Given the description of an element on the screen output the (x, y) to click on. 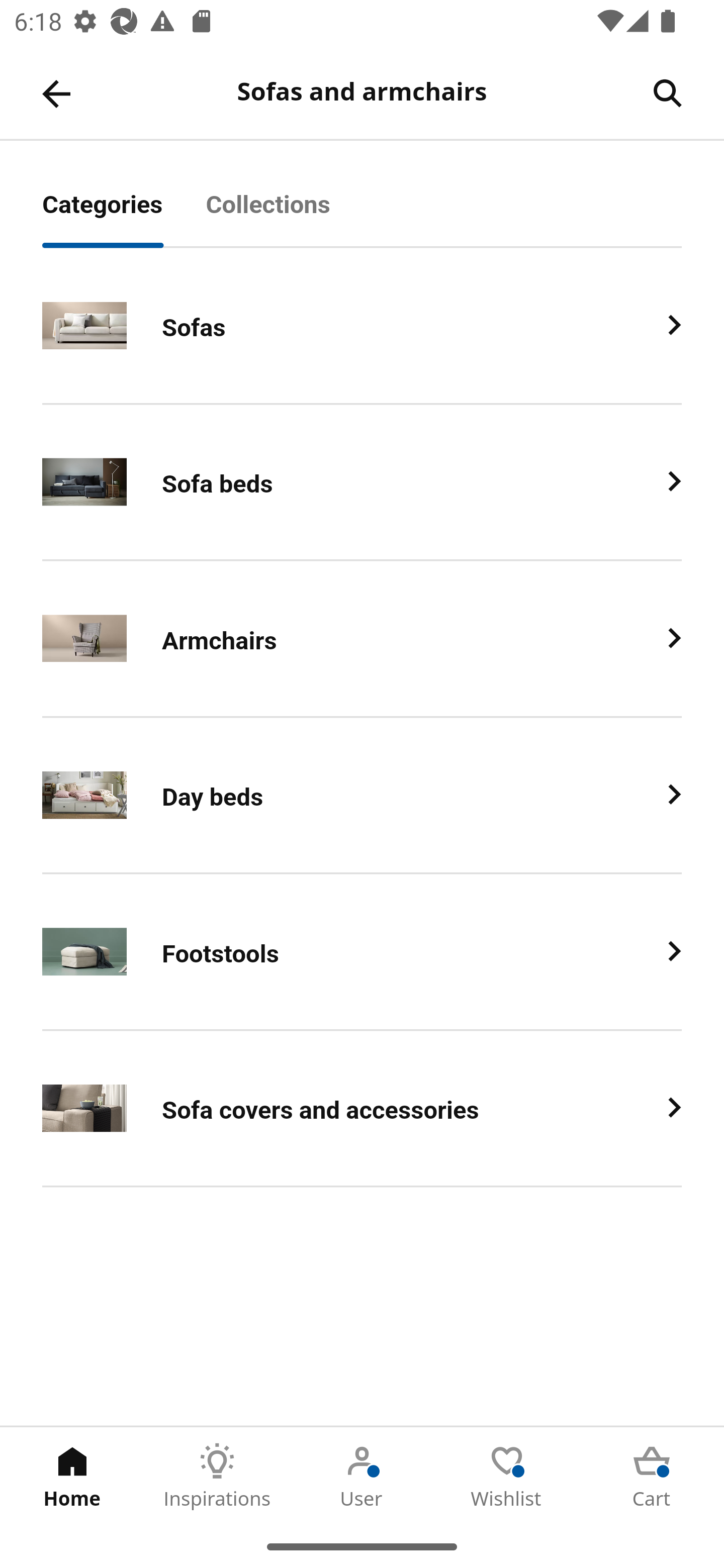
Categories
Tab 1 of 2 (123, 215)
Collections
Tab 2 of 2 (289, 215)
Sofas (361, 325)
Sofa beds (361, 482)
Armchairs (361, 639)
Day beds (361, 796)
Footstools (361, 952)
Sofa covers and accessories (361, 1108)
Home
Tab 1 of 5 (72, 1476)
Inspirations
Tab 2 of 5 (216, 1476)
User
Tab 3 of 5 (361, 1476)
Wishlist
Tab 4 of 5 (506, 1476)
Cart
Tab 5 of 5 (651, 1476)
